Given the description of an element on the screen output the (x, y) to click on. 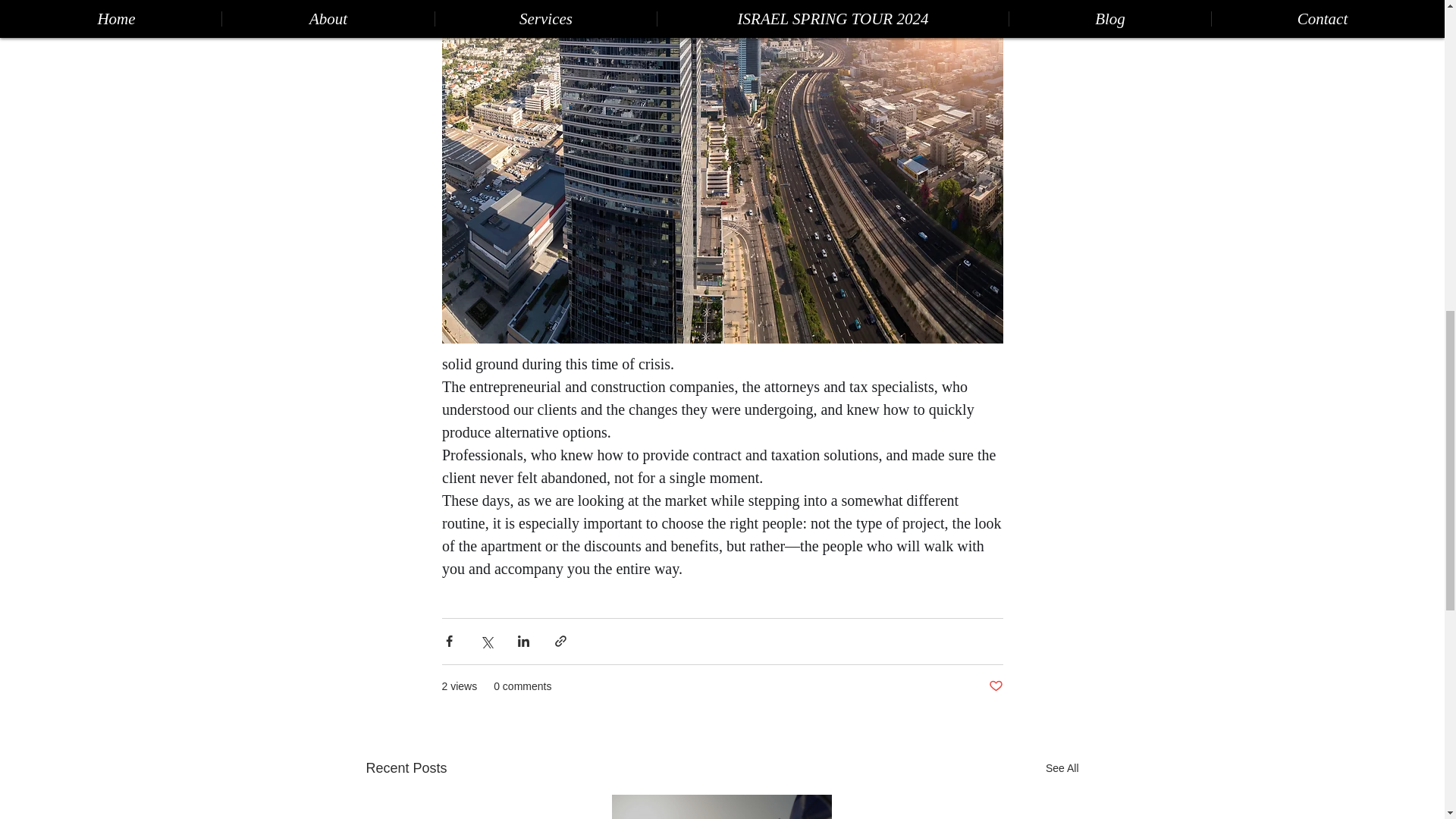
Post not marked as liked (995, 686)
See All (1061, 768)
